Given the description of an element on the screen output the (x, y) to click on. 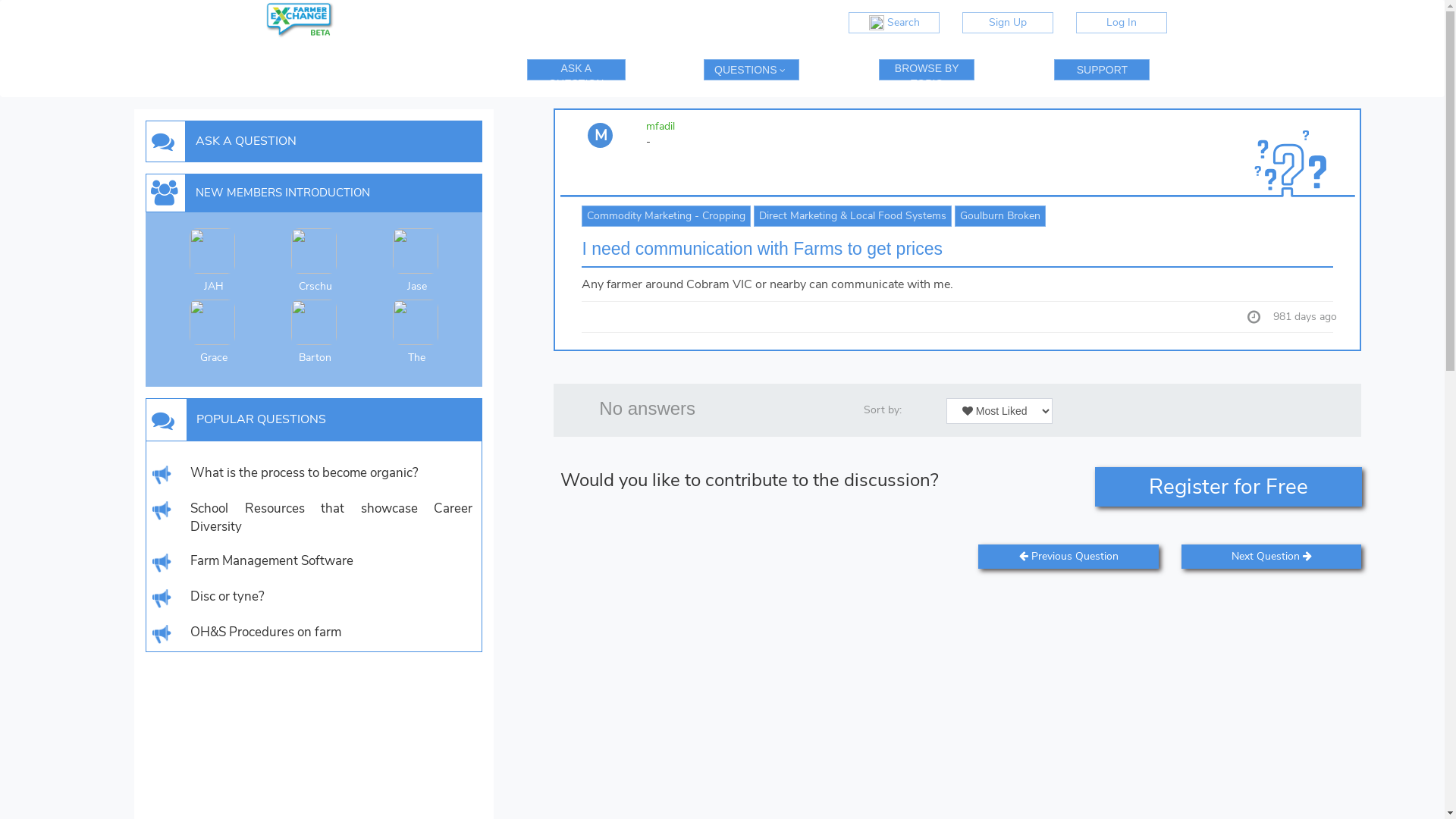
ASK A QUESTION Element type: text (325, 141)
Direct Marketing & Local Food Systems Element type: text (852, 215)
POPULAR QUESTIONS Element type: text (326, 419)
Next Question Element type: text (1271, 556)
Log In Element type: text (1121, 22)
Goulburn Broken Element type: text (999, 215)
Previous Question Element type: text (1067, 556)
POPULAR QUESTIONS Element type: text (326, 419)
Sign Up Element type: text (1007, 22)
SUPPORT Element type: text (1101, 69)
Search Element type: text (893, 22)
QUESTIONS Element type: text (751, 69)
Log In Element type: text (1121, 22)
ASK A QUESTION Element type: text (325, 141)
M Element type: text (600, 135)
BROWSE BY TOPIC Element type: text (926, 68)
BROWSE BY TOPIC Element type: text (926, 69)
SUPPORT Element type: text (1101, 69)
QUESTIONS Element type: text (751, 69)
Sign Up Element type: text (1007, 22)
Search Element type: text (893, 22)
Direct Marketing & Local Food Systems Element type: text (852, 215)
ASK A QUESTION Element type: text (576, 68)
mfadil Element type: text (660, 126)
Commodity Marketing - Cropping Element type: text (665, 215)
Commodity Marketing - Cropping Element type: text (665, 215)
ASK A QUESTION Element type: text (576, 69)
Register for Free Element type: text (1228, 486)
